Given the description of an element on the screen output the (x, y) to click on. 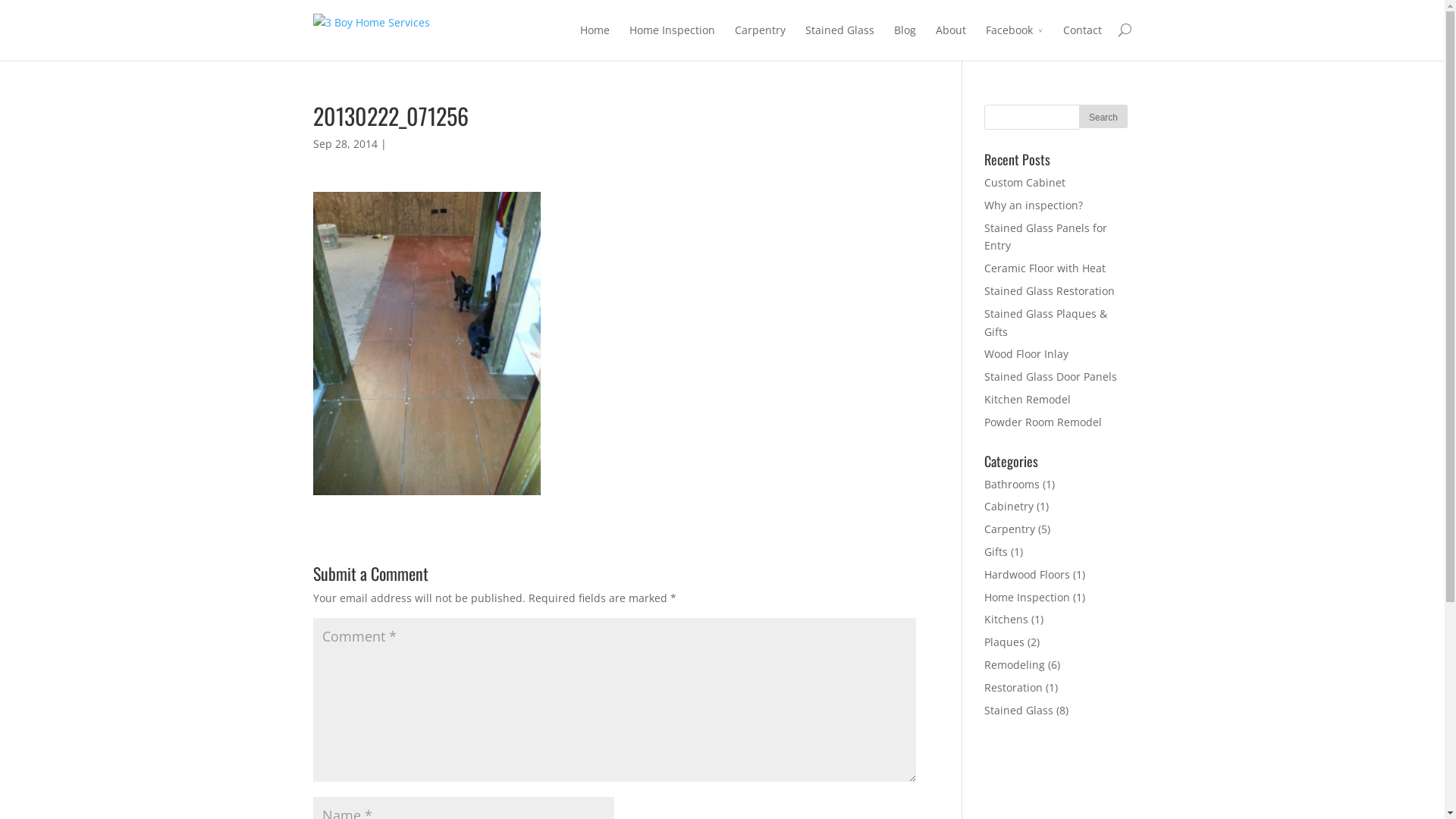
Stained Glass Restoration Element type: text (1049, 290)
Stained Glass Element type: text (1018, 709)
Blog Element type: text (904, 40)
Gifts Element type: text (995, 551)
Home Element type: text (593, 40)
Hardwood Floors Element type: text (1027, 574)
Wood Floor Inlay Element type: text (1026, 353)
Cabinetry Element type: text (1008, 505)
Carpentry Element type: text (1009, 528)
Remodeling Element type: text (1014, 664)
Powder Room Remodel Element type: text (1042, 421)
Carpentry Element type: text (759, 40)
Stained Glass Door Panels Element type: text (1050, 376)
Stained Glass Element type: text (839, 40)
Custom Cabinet Element type: text (1024, 182)
Kitchens Element type: text (1006, 618)
Why an inspection? Element type: text (1033, 204)
Contact Element type: text (1082, 40)
About Element type: text (950, 40)
Restoration Element type: text (1013, 687)
Stained Glass Plaques & Gifts Element type: text (1045, 322)
Stained Glass Panels for Entry Element type: text (1045, 236)
Home Inspection Element type: text (672, 40)
Home Inspection Element type: text (1027, 596)
Facebook Element type: text (1014, 40)
Bathrooms Element type: text (1011, 483)
Search Element type: text (1103, 116)
Ceramic Floor with Heat Element type: text (1044, 267)
Kitchen Remodel Element type: text (1027, 399)
Plaques Element type: text (1004, 641)
